Given the description of an element on the screen output the (x, y) to click on. 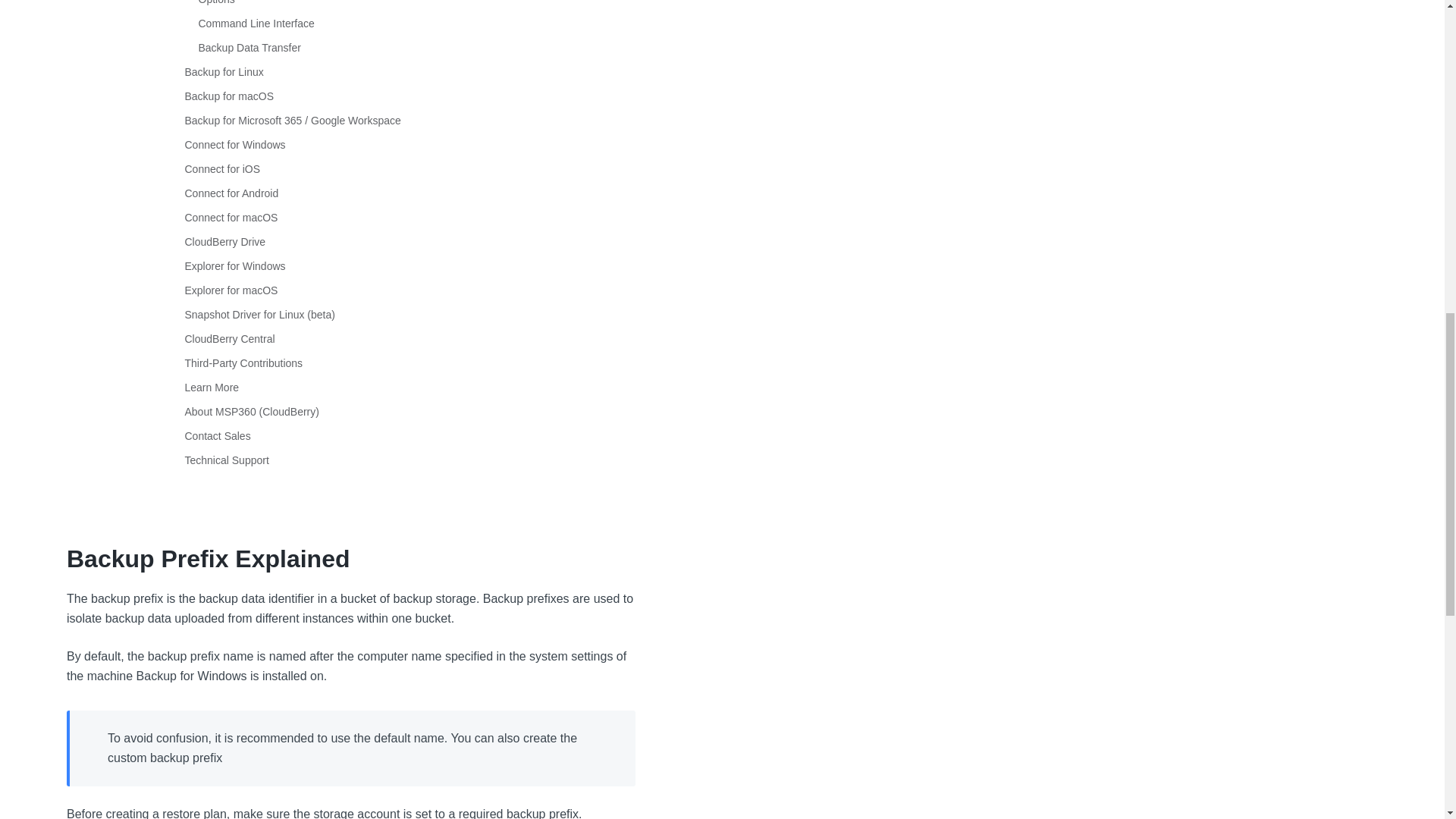
Backup for Linux (223, 71)
Backup Data Transfer (249, 47)
Backup for macOS (229, 96)
Options (216, 2)
Command Line Interface (256, 23)
